Given the description of an element on the screen output the (x, y) to click on. 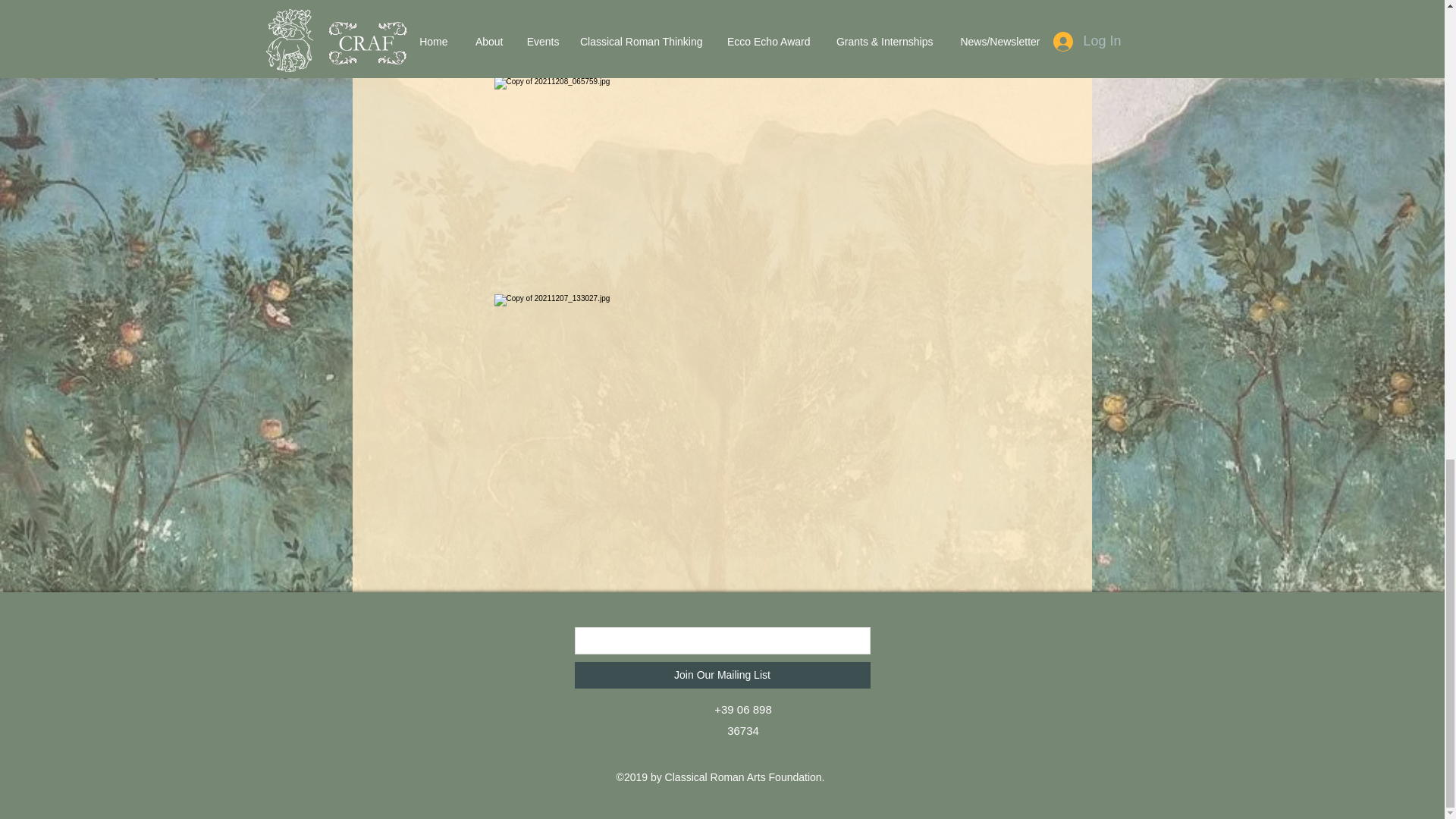
Join Our Mailing List (722, 674)
